Given the description of an element on the screen output the (x, y) to click on. 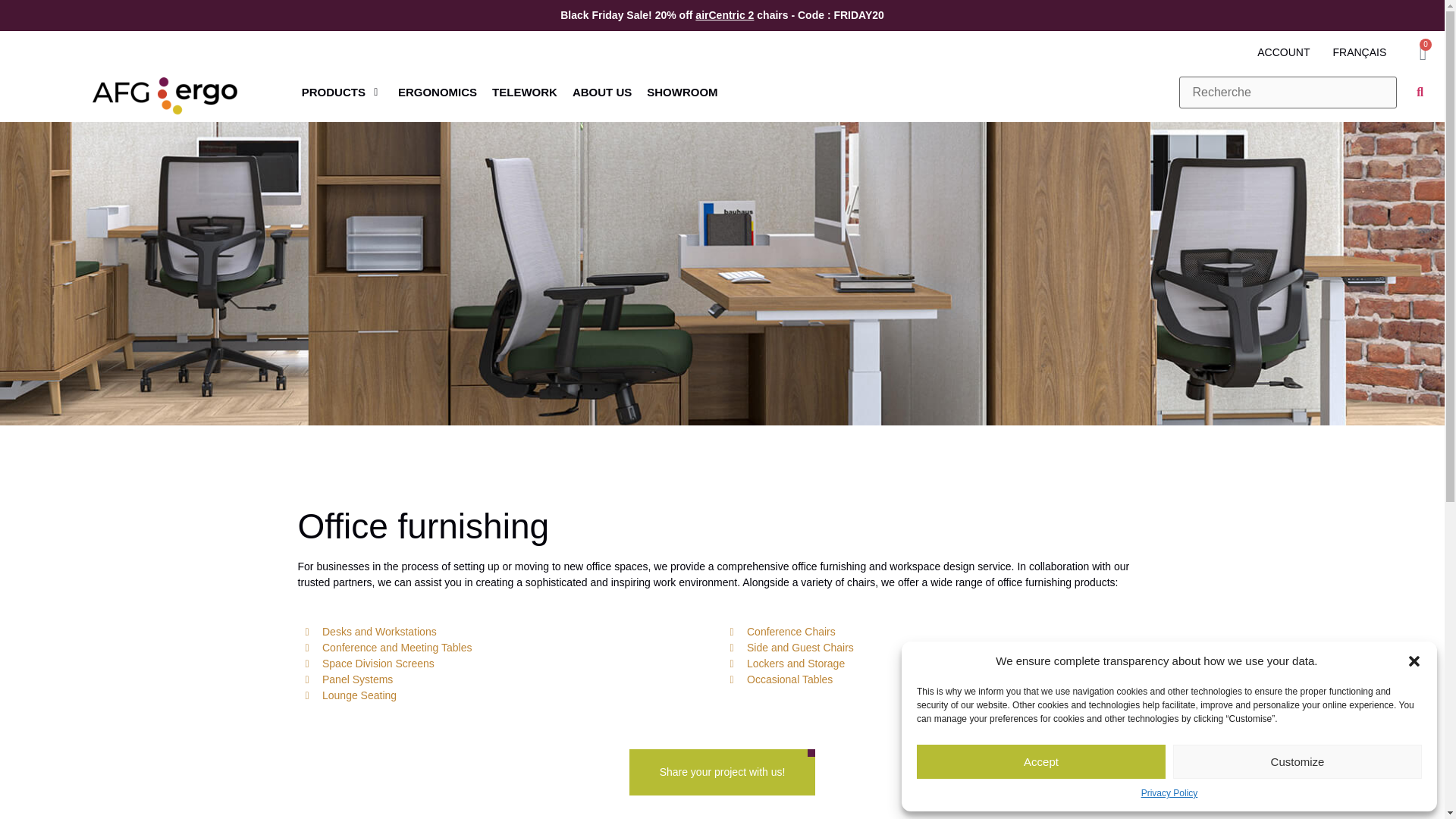
PRODUCTS (333, 92)
AFG-ergo-rgb-150dpi.png (165, 95)
Customize (1297, 761)
airCentric 2 (724, 15)
Accept (1041, 761)
ACCOUNT (1283, 52)
Privacy Policy (1169, 793)
